Given the description of an element on the screen output the (x, y) to click on. 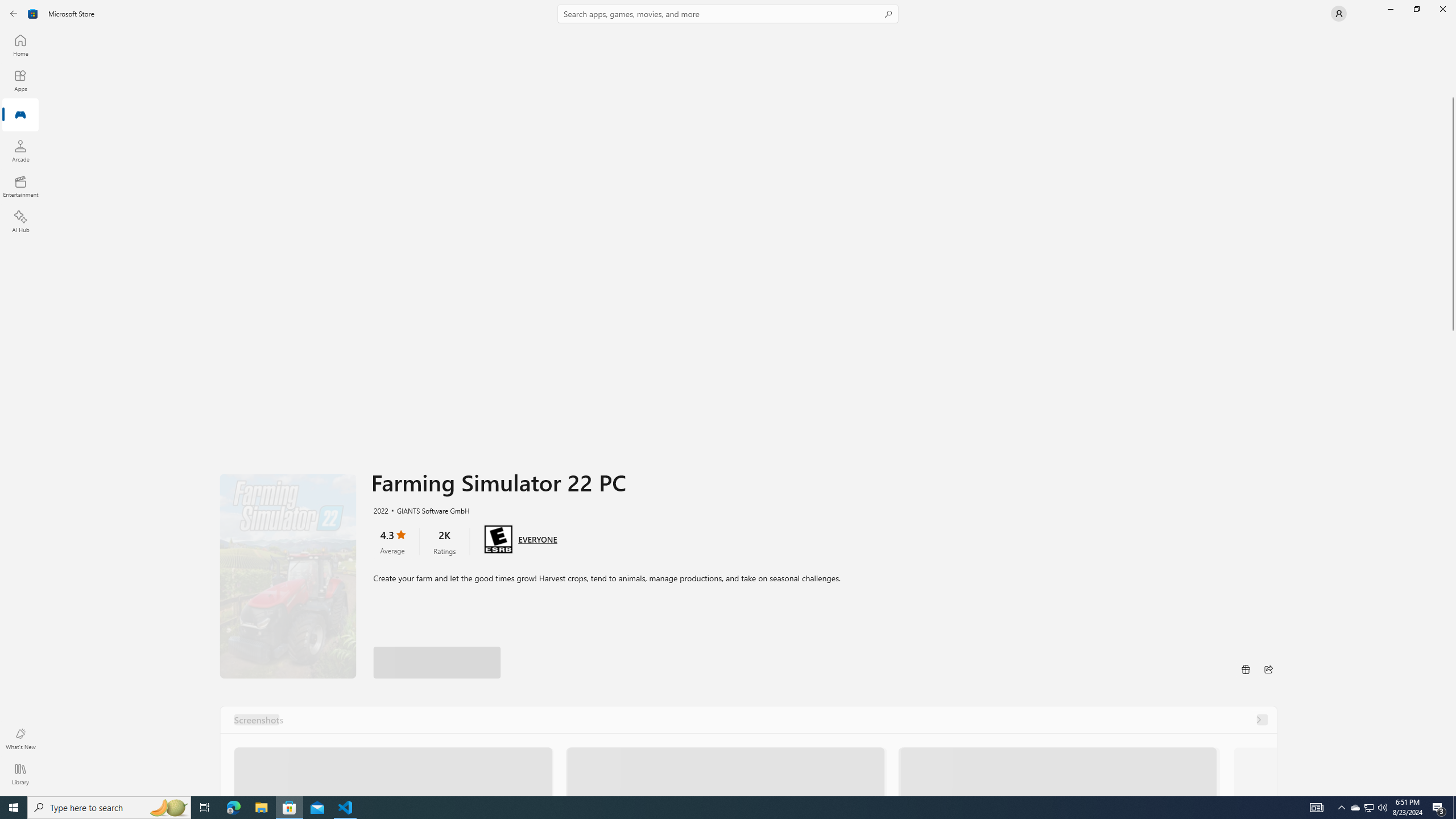
Buy as gift (1245, 669)
AutomationID: NavigationControl (728, 398)
2022 (379, 510)
Play with Game Pass (436, 649)
Vertical (1452, 412)
Vertical Small Decrease (1452, 31)
Vertical Small Increase (1452, 792)
